Given the description of an element on the screen output the (x, y) to click on. 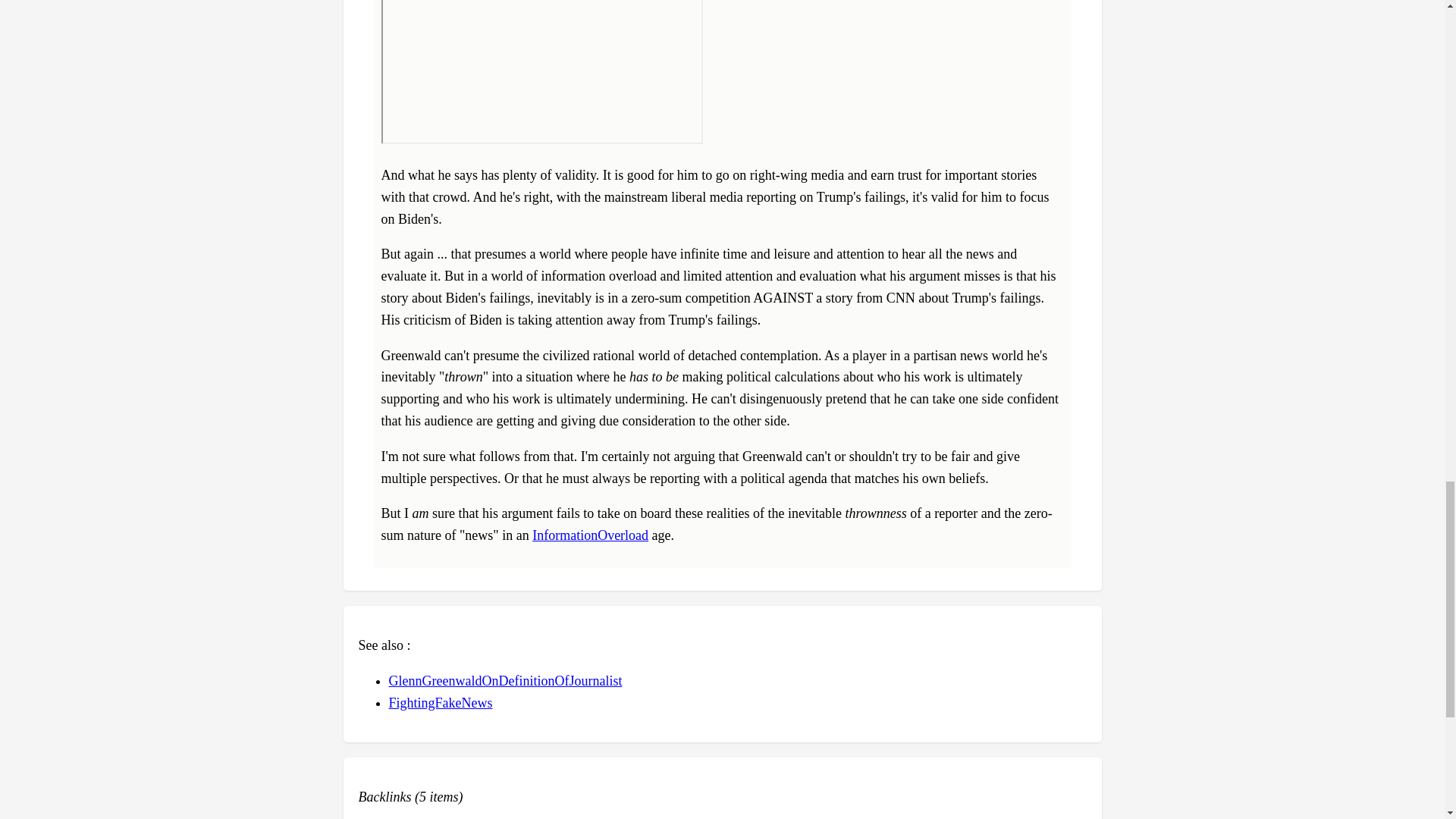
FightingFakeNews (440, 702)
InformationOverload (589, 534)
GlennGreenwaldOnDefinitionOfJournalist (504, 680)
